Given the description of an element on the screen output the (x, y) to click on. 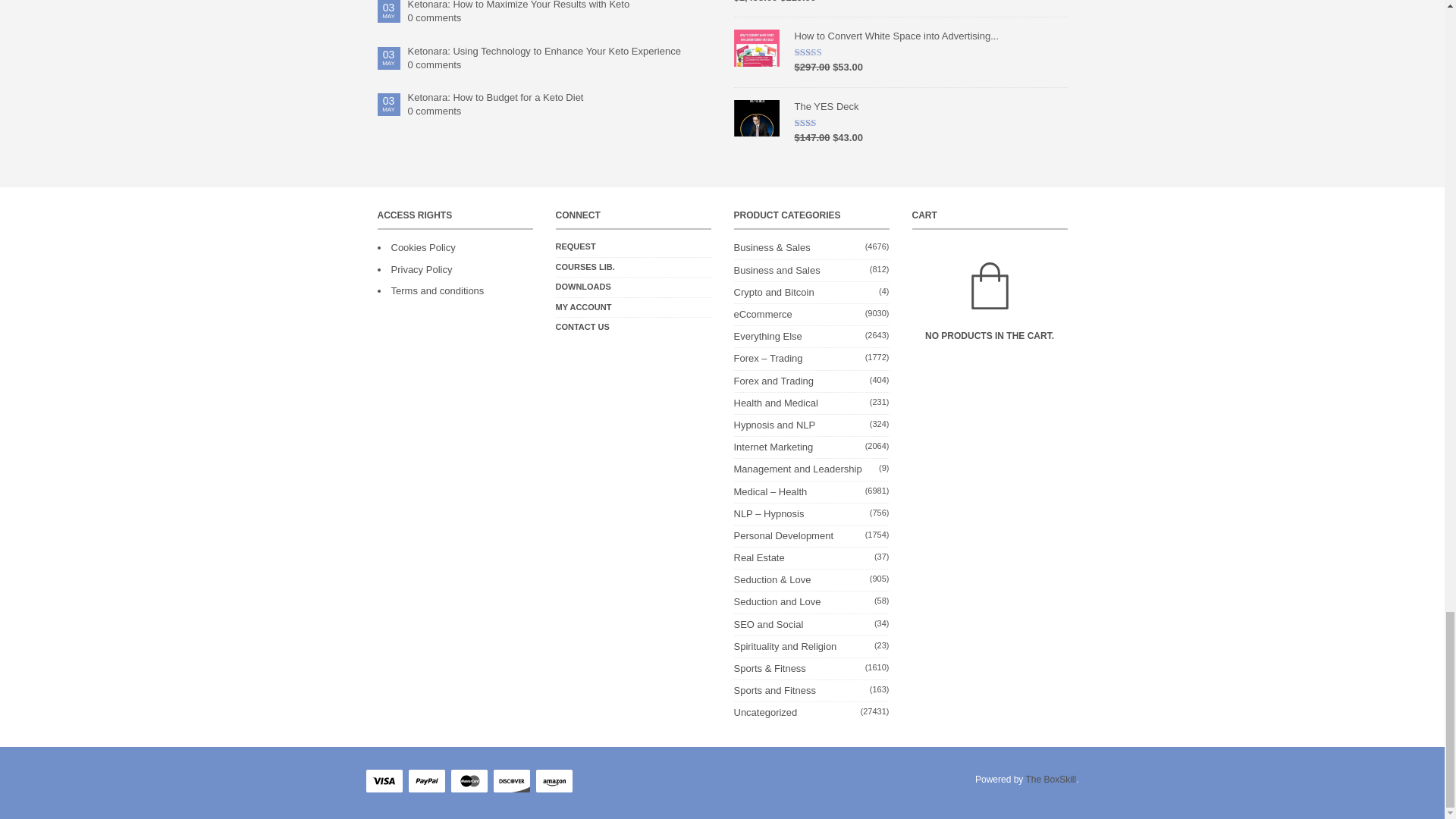
Ketonara: Using Technology to Enhance Your Keto Experience (559, 51)
Ketonara: How to Budget for a Keto Diet (559, 97)
Ketonara: How to Maximize Your Results with Keto (559, 5)
